Given the description of an element on the screen output the (x, y) to click on. 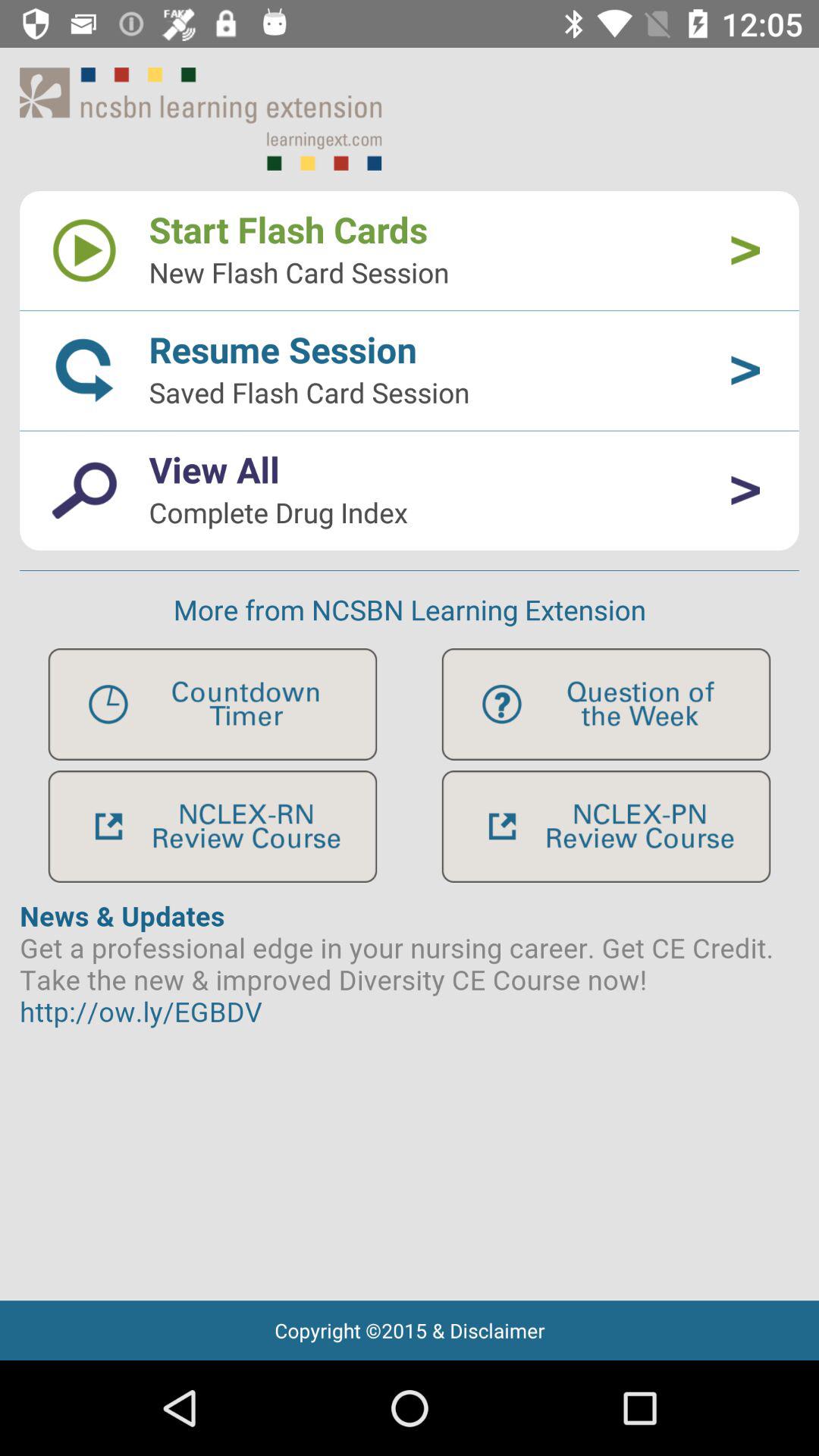
review course (212, 826)
